Given the description of an element on the screen output the (x, y) to click on. 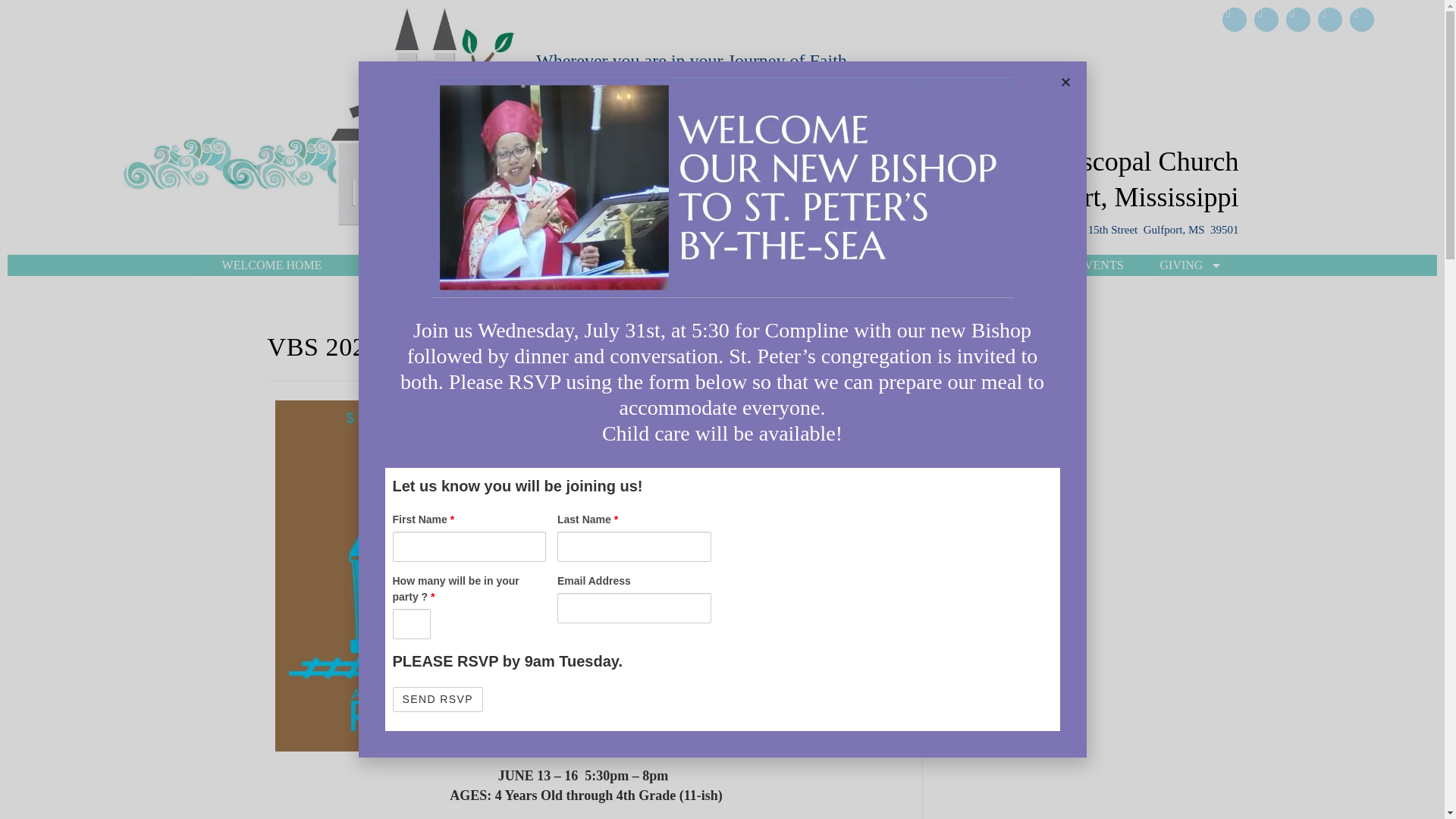
WELCOME HOME (271, 265)
PRAYER (686, 265)
MINISTRY (588, 265)
SERVICES (475, 265)
EVENTS (1099, 265)
ABOUT (379, 265)
GIVING (1191, 265)
GOOD PEOPLE (989, 265)
